Given the description of an element on the screen output the (x, y) to click on. 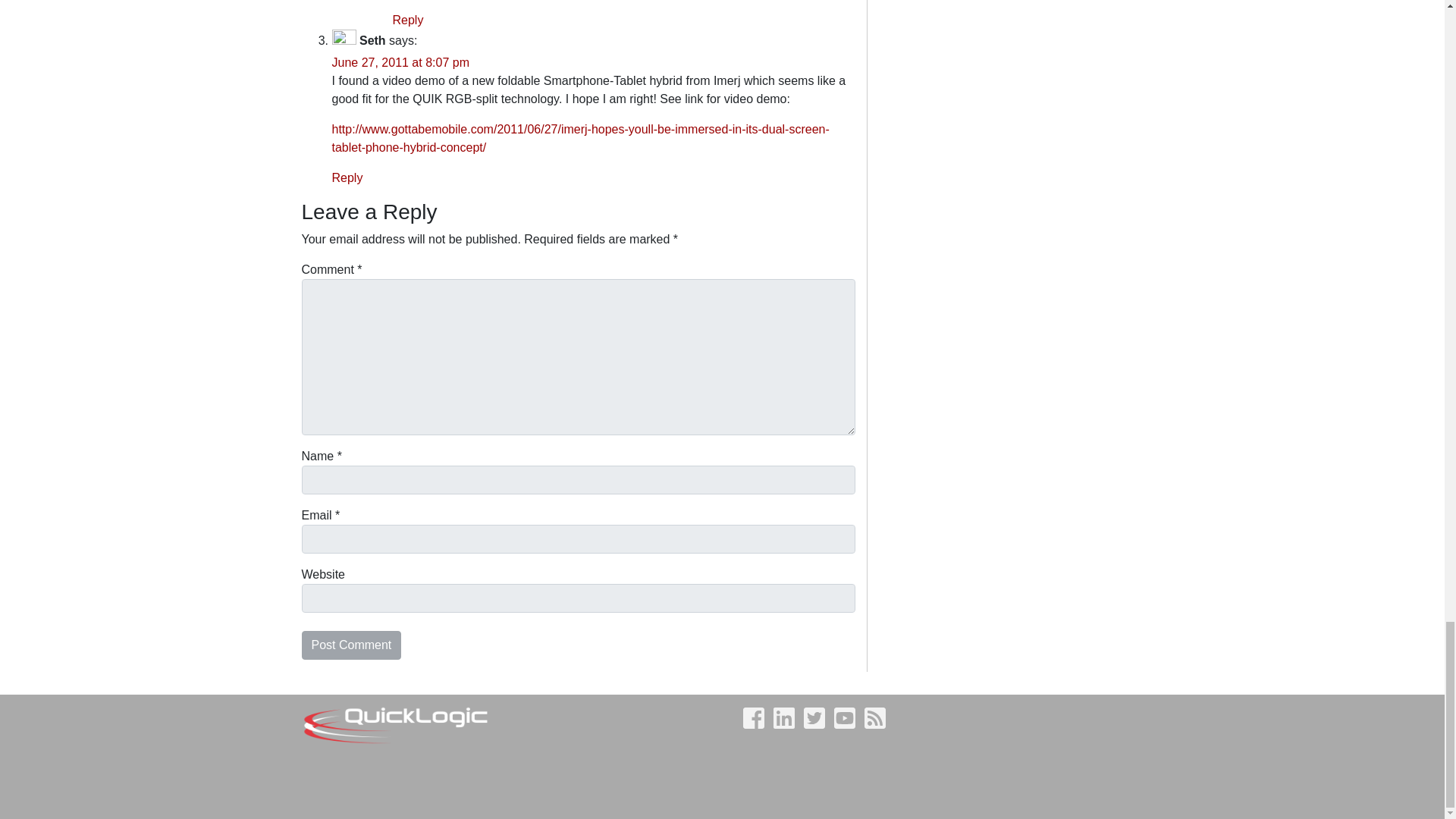
Reply (408, 19)
Post Comment (351, 645)
